Given the description of an element on the screen output the (x, y) to click on. 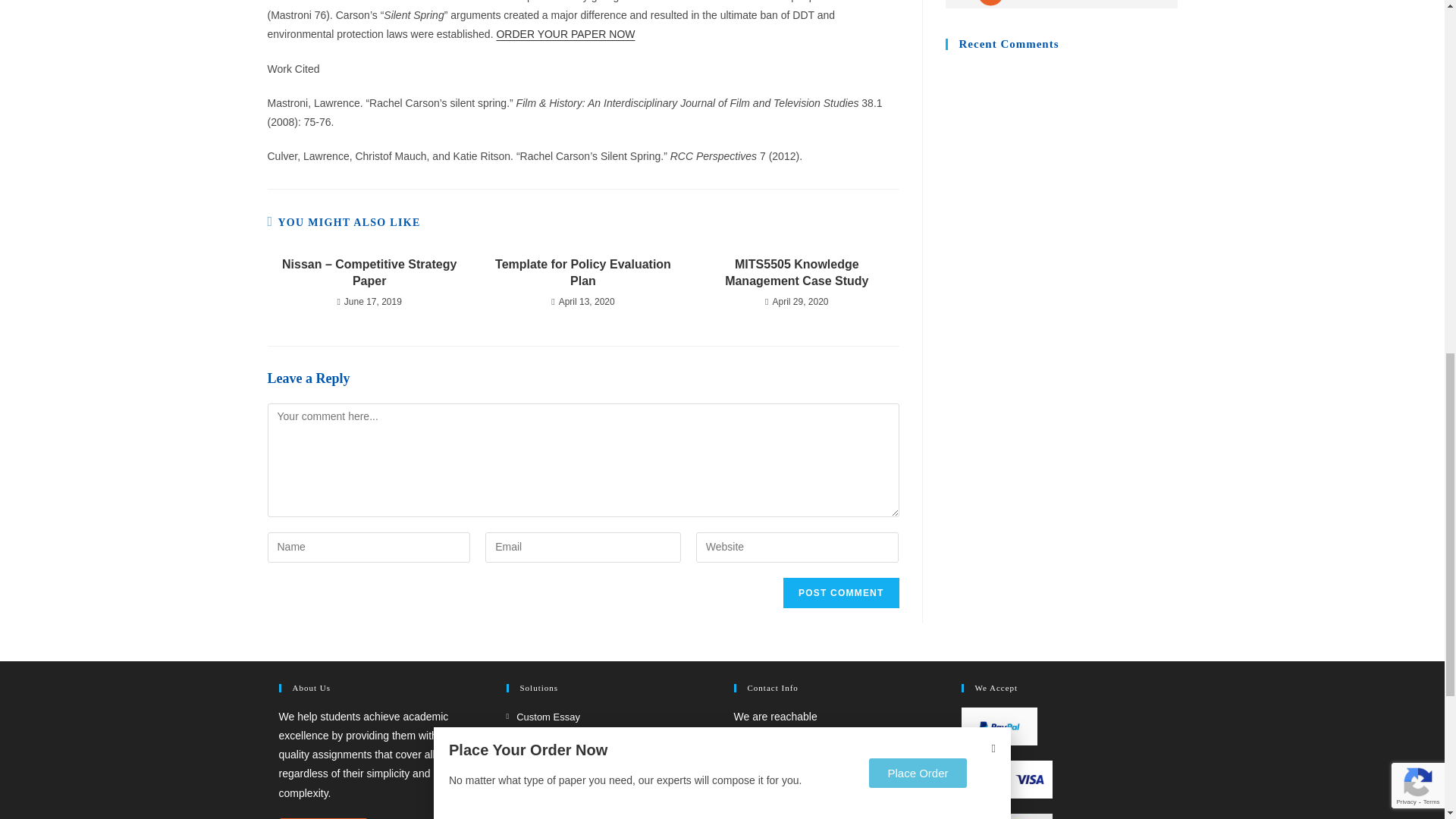
Post Comment (840, 593)
MITS5505 Knowledge Management Case Study (796, 273)
Custom Essay (542, 716)
ORDER YOUR PAPER NOW (565, 33)
Post Comment (840, 593)
Custom Writing Service (563, 760)
Template for Policy Evaluation Plan (582, 273)
Buy Essays Online (552, 738)
Simple Steps To Place Your Order (1060, 4)
